Given the description of an element on the screen output the (x, y) to click on. 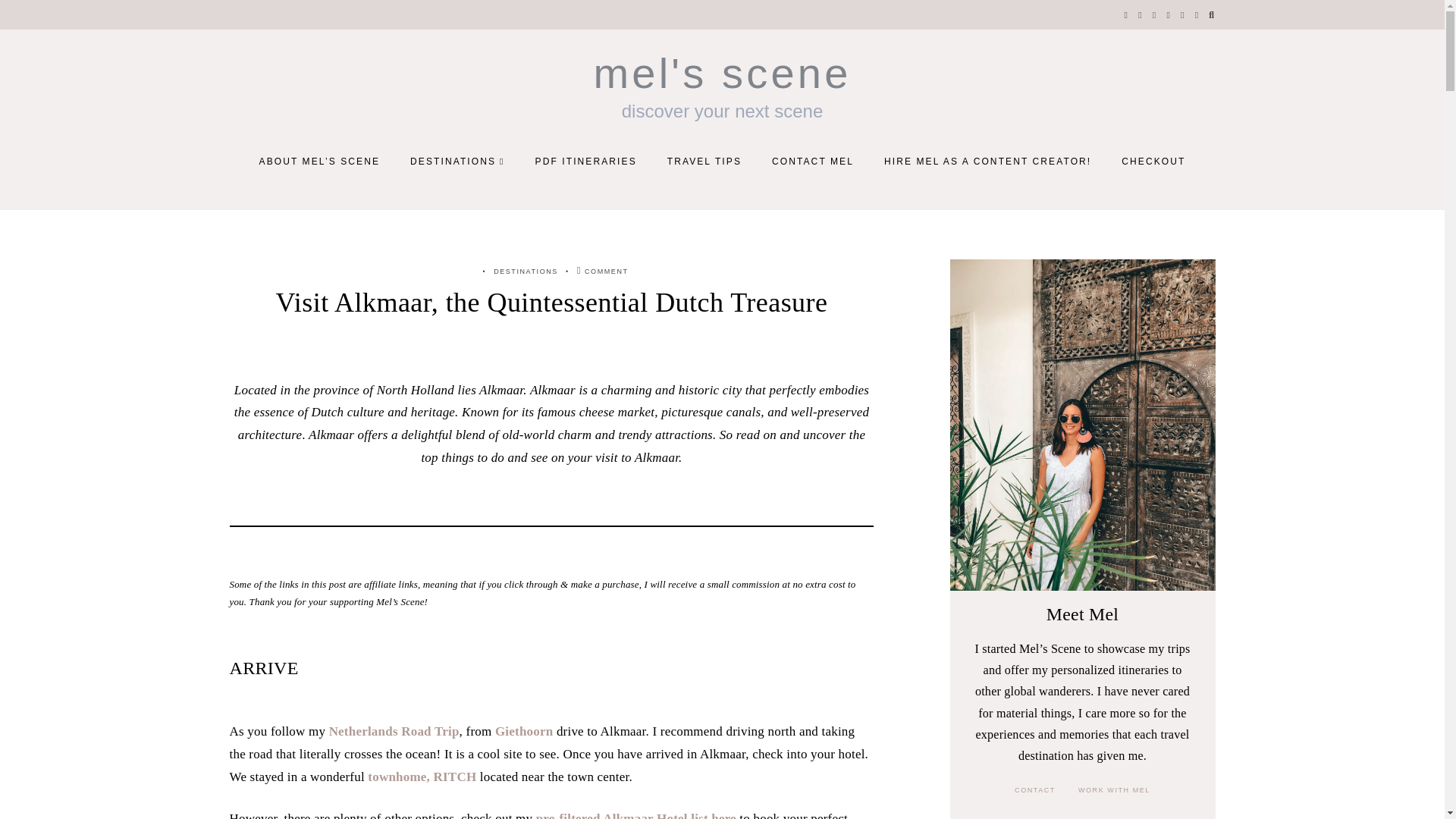
Mel's Scene (721, 72)
View all posts in Destinations (525, 270)
